Given the description of an element on the screen output the (x, y) to click on. 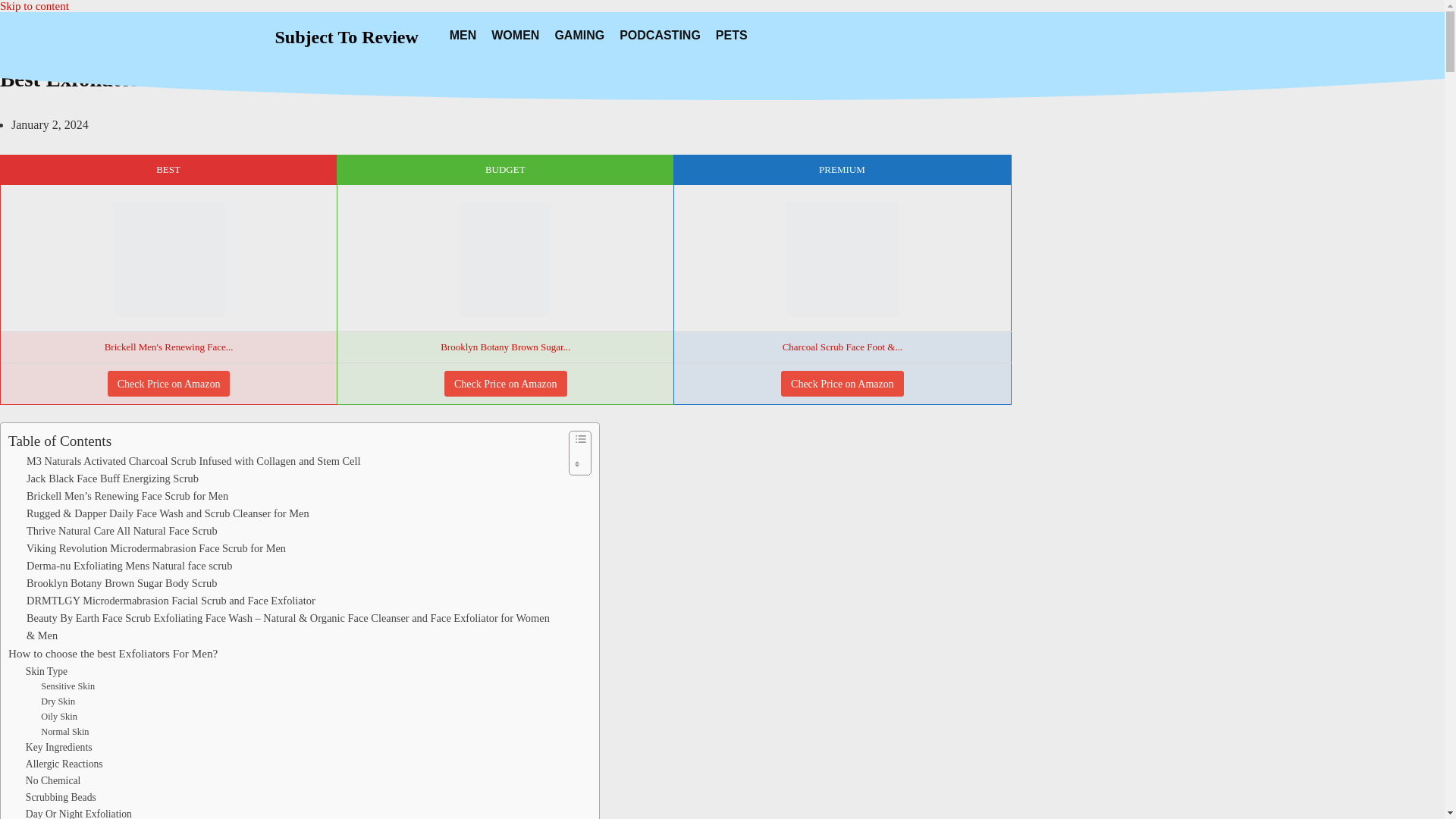
Brooklyn Botany Brown Sugar... (505, 346)
PODCASTING (659, 35)
Brickell Men's Renewing Face... (168, 346)
Brooklyn Botany Brown Sugar... (504, 259)
Check Price on Amazon (842, 383)
Skip to content (34, 6)
Brickell Men's Renewing Face... (168, 259)
DRMTLGY Microdermabrasion Facial Scrub and Face Exfoliator (170, 600)
Thrive Natural Care All Natural Face Scrub (121, 530)
GAMING (579, 35)
